Given the description of an element on the screen output the (x, y) to click on. 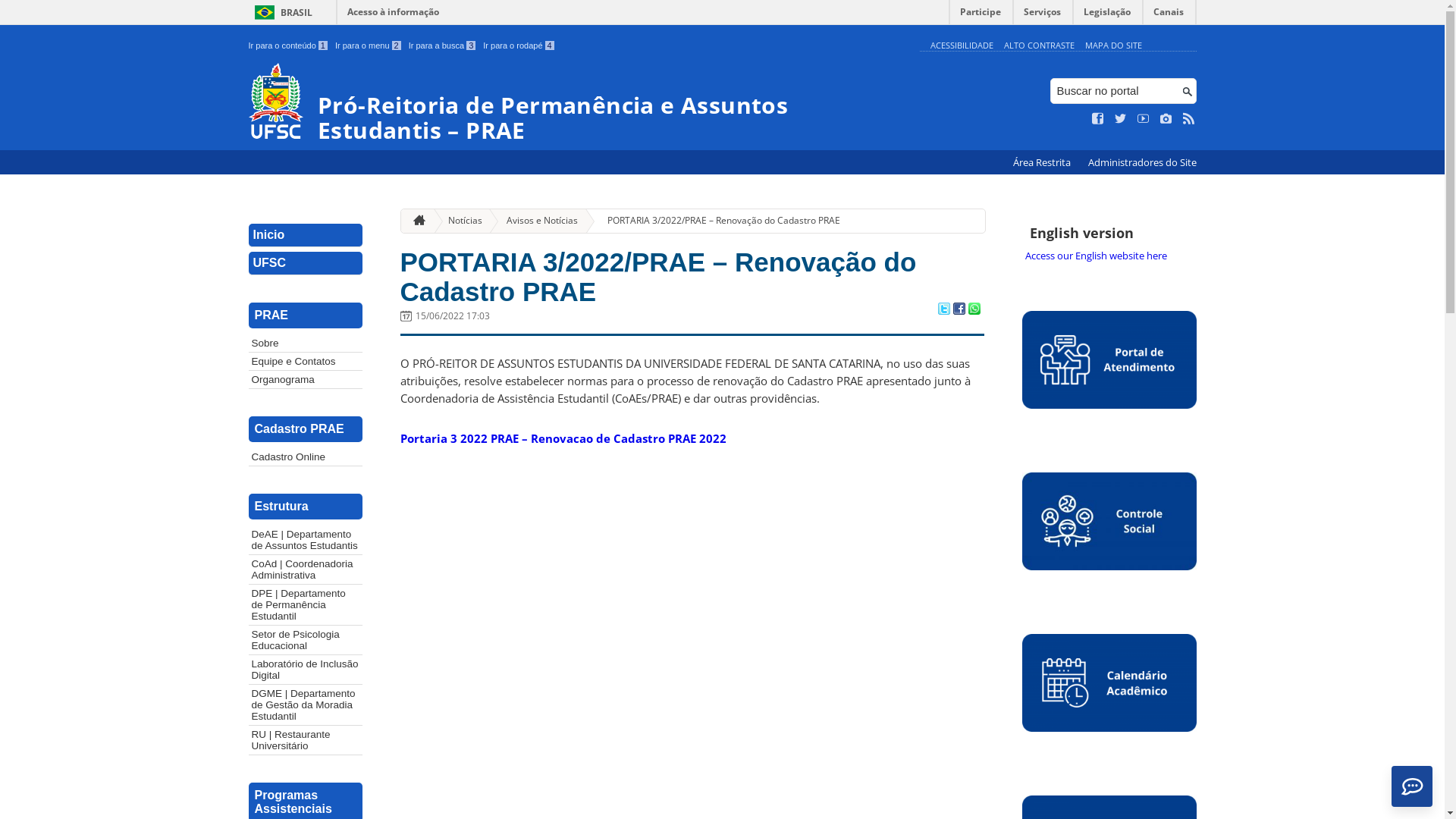
Equipe e Contatos Element type: text (305, 361)
Organograma Element type: text (305, 379)
Access our English website here Element type: text (1109, 255)
Ir para o menu 2 Element type: text (368, 45)
Sobre Element type: text (305, 342)
Compartilhar no Facebook Element type: hover (958, 309)
Compartilhar no WhatsApp Element type: hover (973, 309)
UFSC Element type: text (305, 263)
Siga no Twitter Element type: hover (1120, 118)
ALTO CONTRASTE Element type: text (1039, 44)
Ir para a busca 3 Element type: text (442, 45)
MAPA DO SITE Element type: text (1112, 44)
DeAE | Departamento de Assuntos Estudantis Element type: text (305, 539)
Canais Element type: text (1169, 15)
ACESSIBILIDADE Element type: text (960, 44)
Curta no Facebook Element type: hover (1098, 118)
CoAd | Coordenadoria Administrativa Element type: text (305, 569)
Participe Element type: text (980, 15)
Compartilhar no Twitter Element type: hover (943, 309)
Setor de Psicologia Educacional Element type: text (305, 639)
BRASIL Element type: text (280, 12)
Inicio Element type: text (305, 235)
Veja no Instagram Element type: hover (1166, 118)
Cadastro Online Element type: text (305, 456)
Administradores do Site Element type: text (1141, 162)
